Given the description of an element on the screen output the (x, y) to click on. 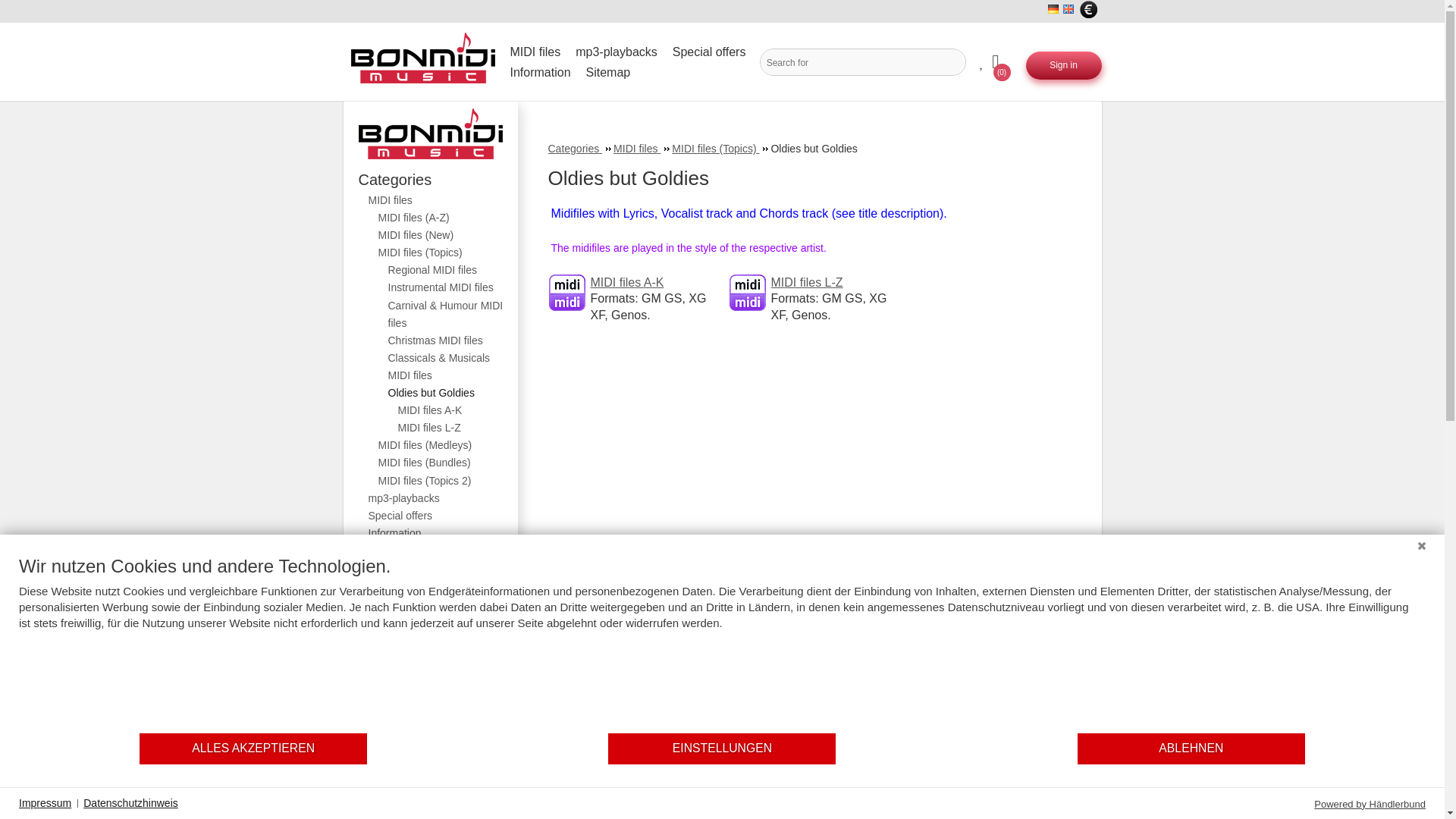
Close (1421, 545)
MIDI files (538, 50)
MIDI files A-K (566, 292)
mp3-playbacks (620, 50)
bonmidi music (433, 133)
MIDI files L-Z (747, 292)
Start search (951, 62)
bonmidi music (422, 61)
